Given the description of an element on the screen output the (x, y) to click on. 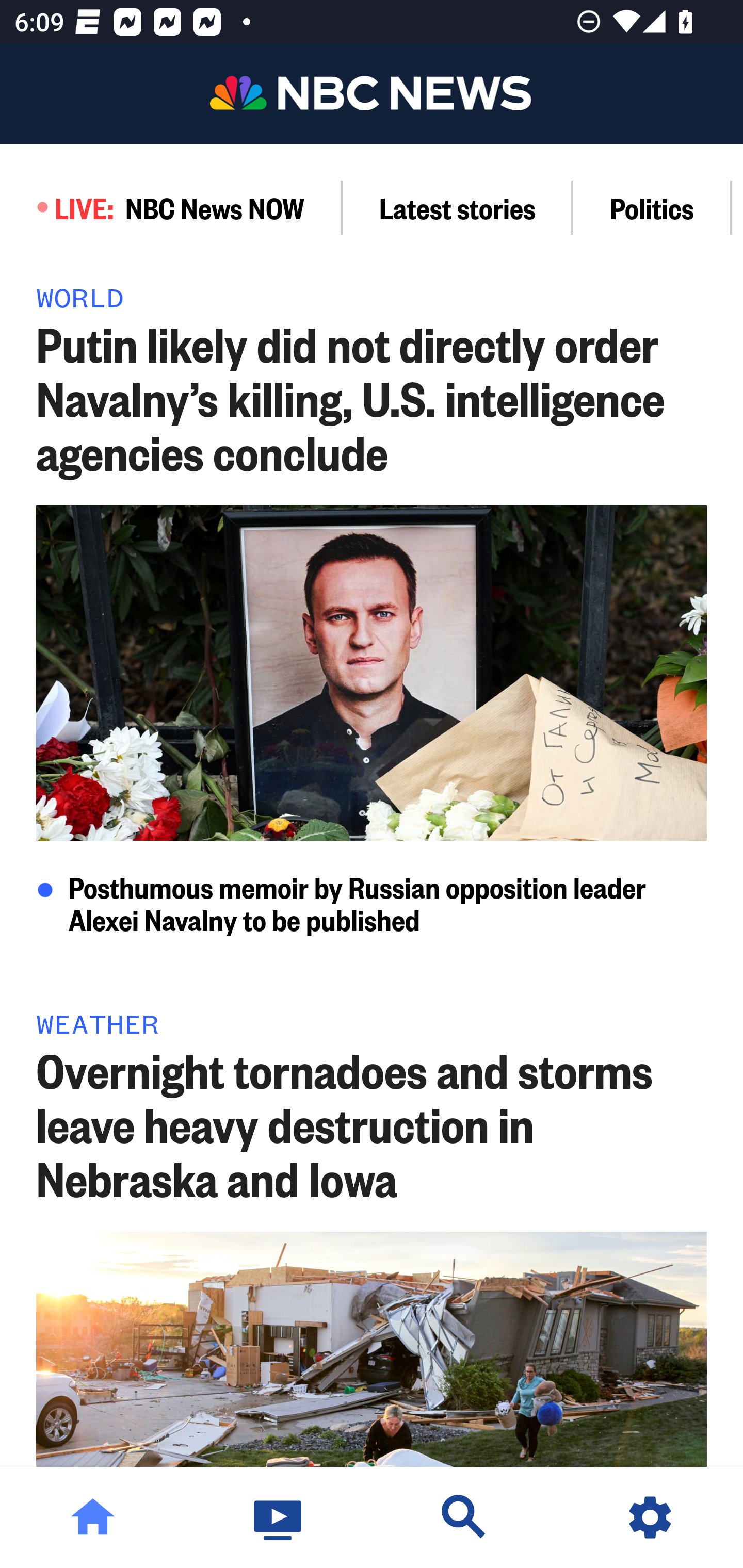
LIVE:  NBC News NOW (171, 207)
Latest stories Section,Latest stories (457, 207)
Politics Section,Politics (652, 207)
Watch (278, 1517)
Discover (464, 1517)
Settings (650, 1517)
